Given the description of an element on the screen output the (x, y) to click on. 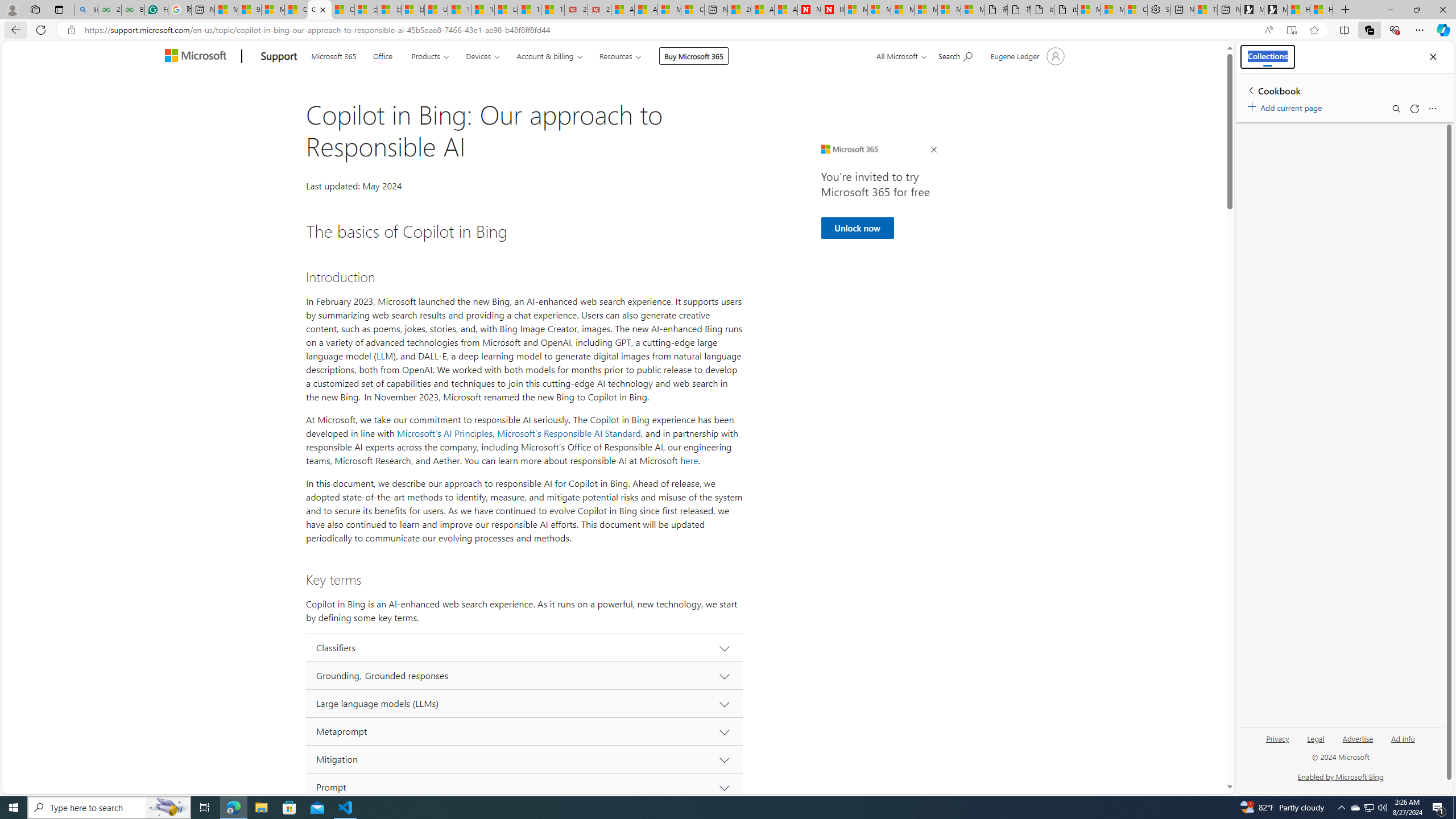
20 Ways to Boost Your Protein Intake at Every Meal (738, 9)
Account manager for Eugene Ledger (1025, 55)
Consumer Health Data Privacy Policy (1135, 9)
Support (278, 56)
More options menu (1432, 108)
Office (382, 54)
here (688, 460)
Search for help (954, 54)
